Given the description of an element on the screen output the (x, y) to click on. 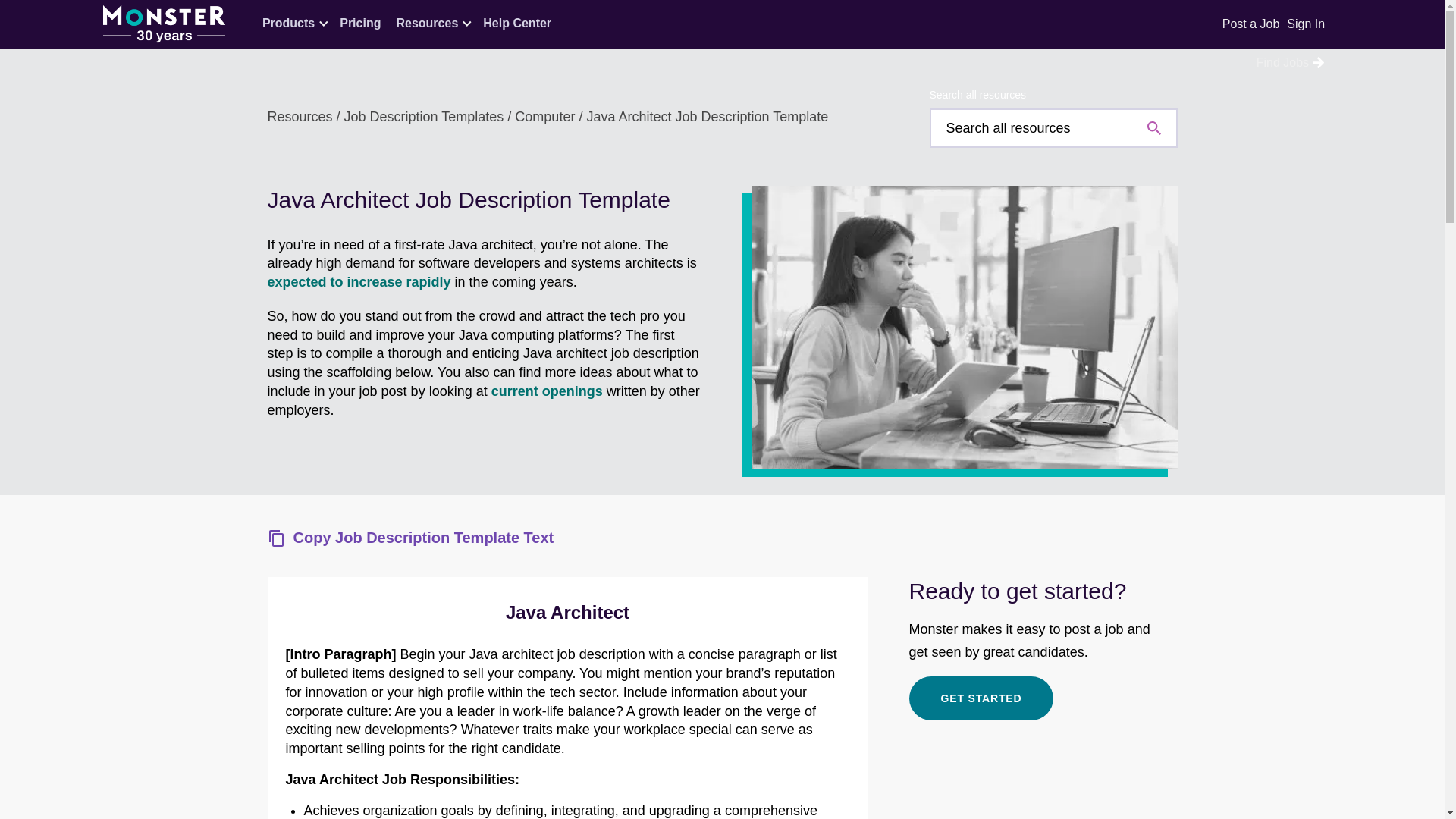
Sign In (1305, 23)
Pricing (359, 28)
Post a Job (1251, 26)
Find Jobs (1282, 64)
Products (288, 28)
Help Center (517, 28)
Resources (298, 116)
Search (1053, 128)
Resources (427, 28)
